Given the description of an element on the screen output the (x, y) to click on. 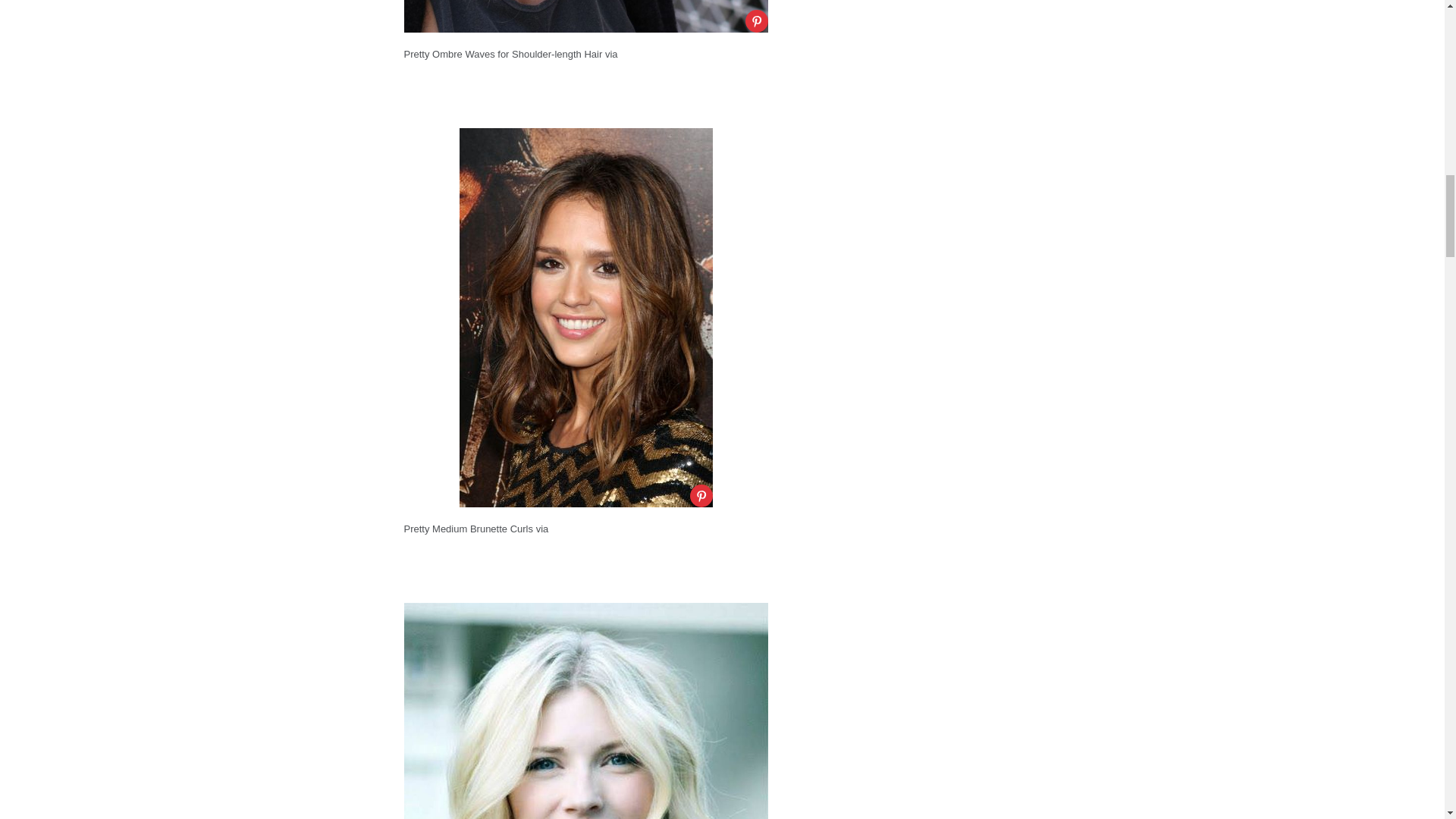
via (541, 528)
via (611, 53)
